Given the description of an element on the screen output the (x, y) to click on. 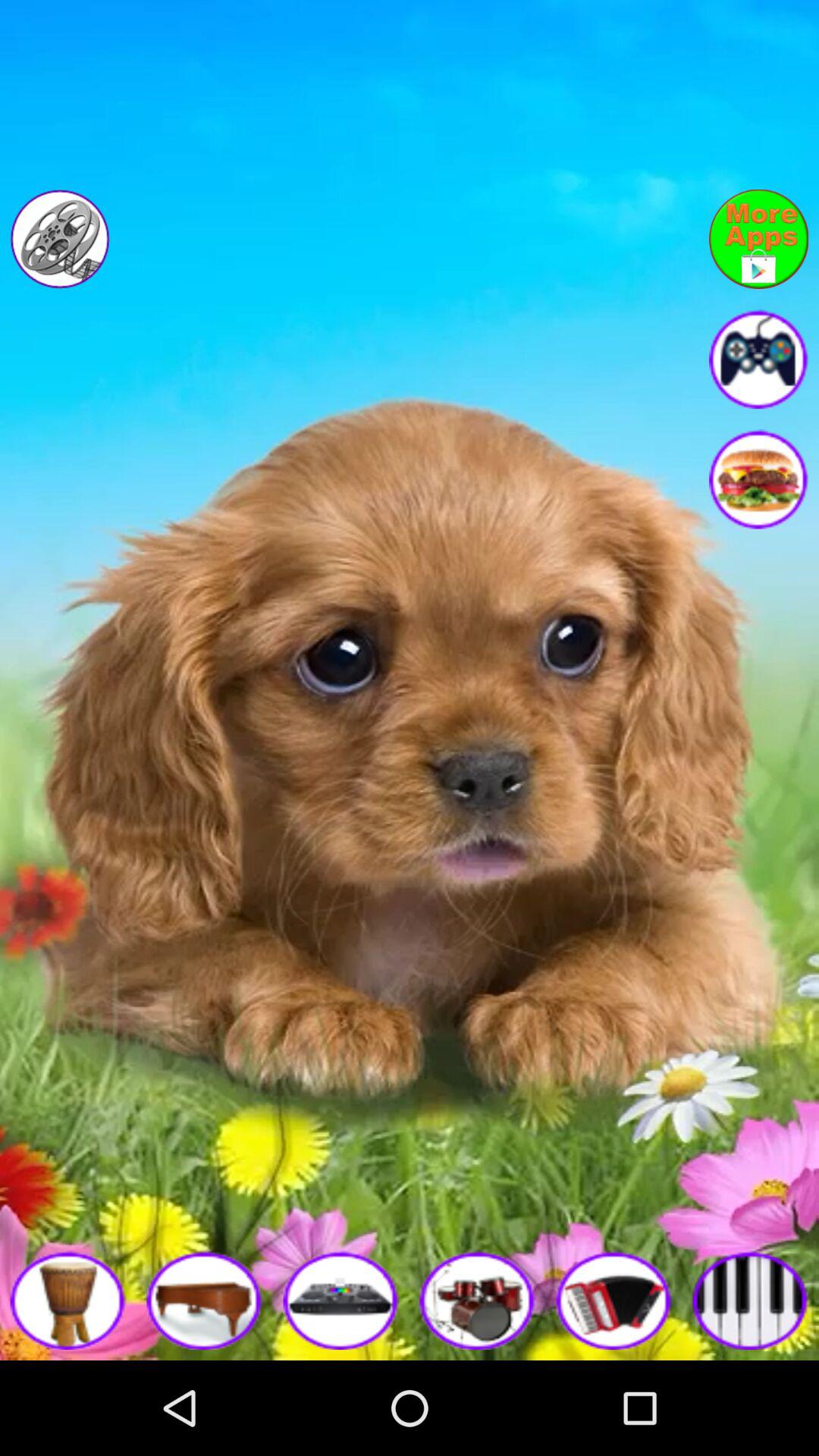
food (758, 478)
